Given the description of an element on the screen output the (x, y) to click on. 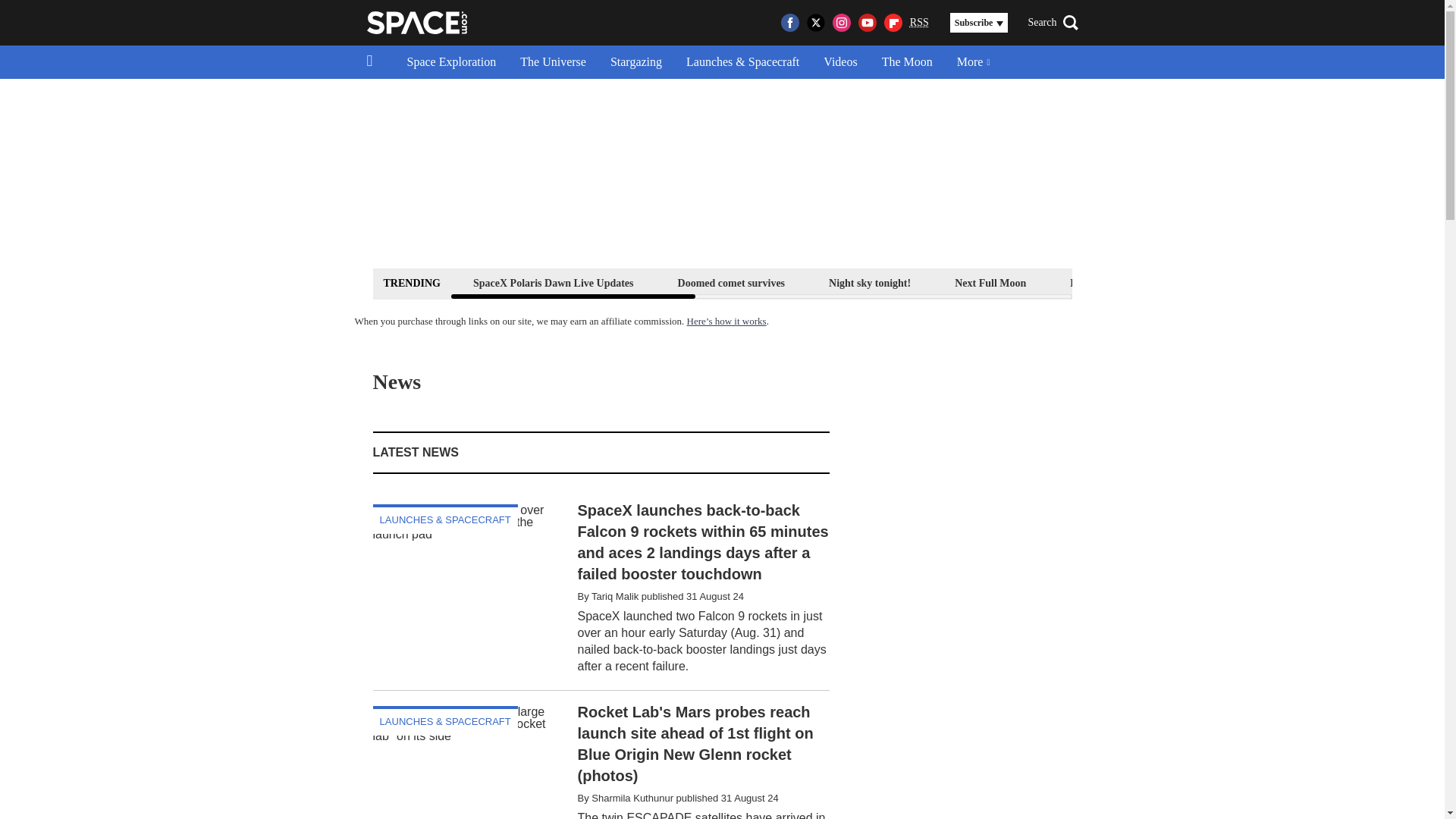
Really Simple Syndication (919, 21)
Night sky tonight! (869, 282)
Best Telescopes (1104, 282)
Best Binoculars (1218, 282)
Next Full Moon (989, 282)
The Universe (553, 61)
Space Exploration (451, 61)
The Moon (906, 61)
RSS (919, 22)
SpaceX Polaris Dawn Live Updates (553, 282)
